Given the description of an element on the screen output the (x, y) to click on. 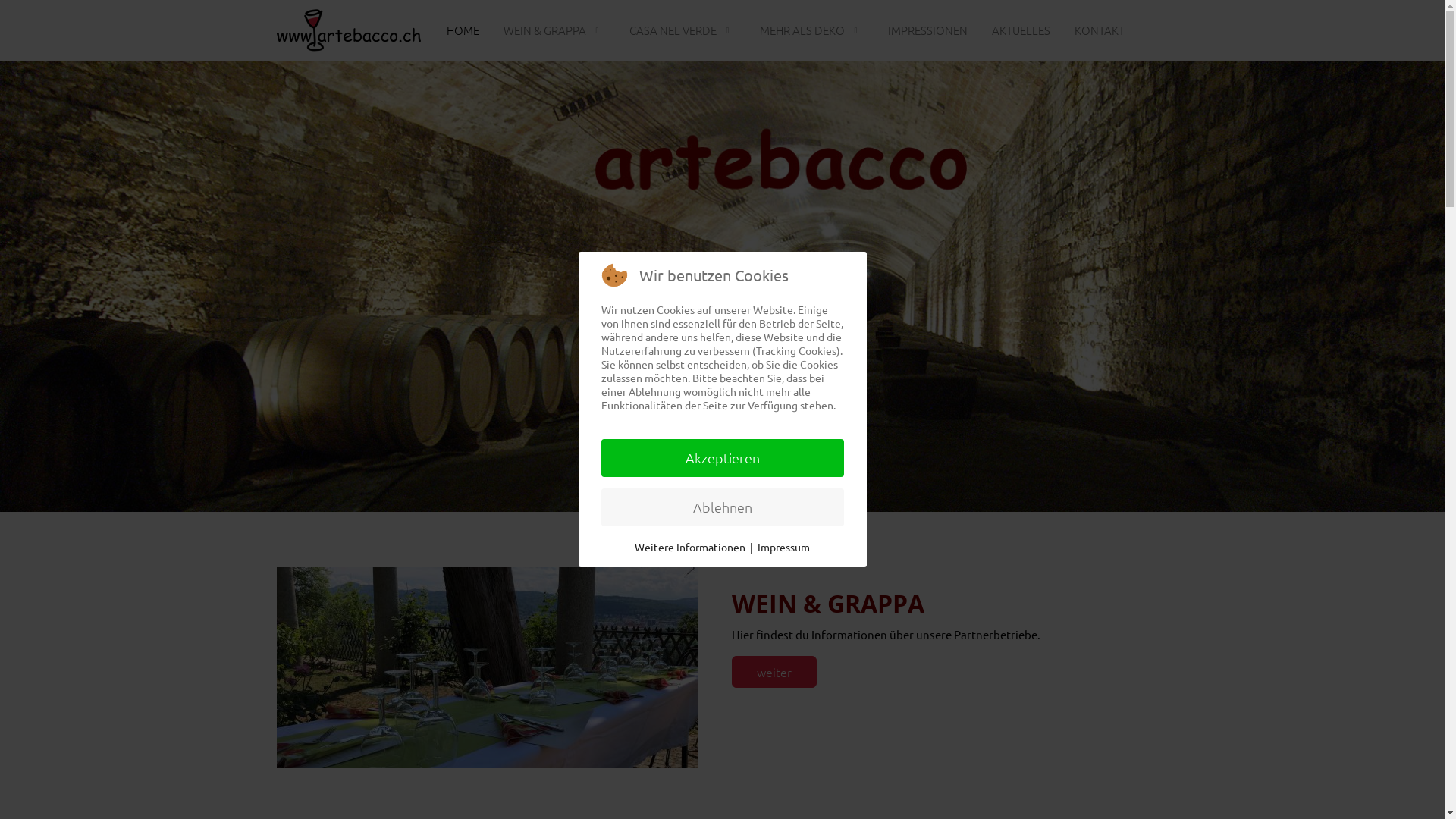
Impressum Element type: text (783, 546)
weiter Element type: text (773, 671)
AKTUELLES Element type: text (1020, 30)
IMPRESSIONEN Element type: text (927, 30)
WEIN & GRAPPA Element type: text (554, 30)
KONTAKT Element type: text (1098, 30)
Akzeptieren Element type: text (721, 457)
CASA NEL VERDE Element type: text (682, 30)
MEHR ALS DEKO Element type: text (811, 30)
HOME Element type: text (461, 30)
Ablehnen Element type: text (721, 507)
Weitere Informationen Element type: text (689, 546)
